Given the description of an element on the screen output the (x, y) to click on. 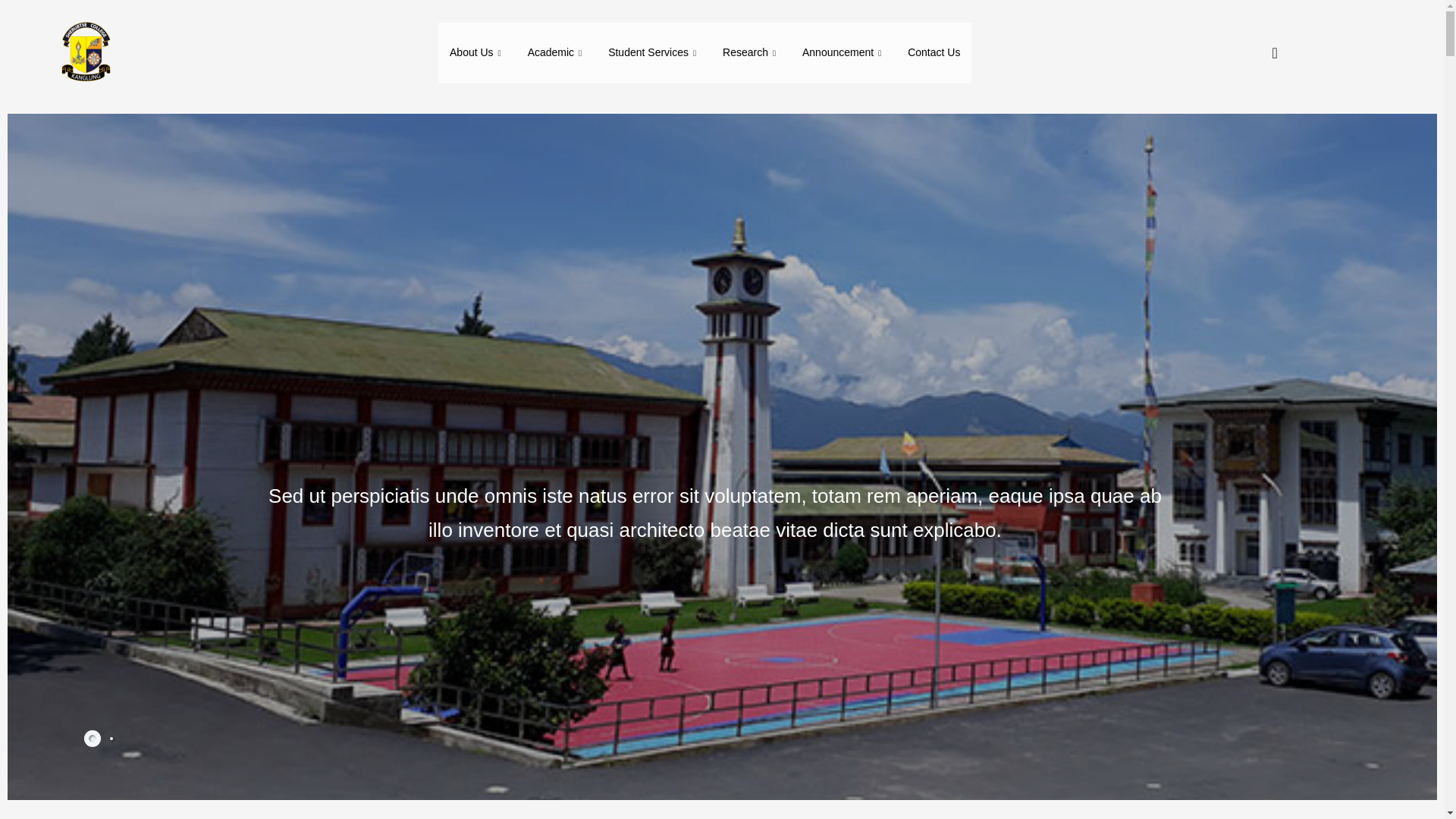
Academic (556, 52)
Contact Us (933, 52)
Research (750, 52)
Announcement (843, 52)
Student Services (653, 52)
About Us (477, 52)
logo-removebg-preview-1 (84, 52)
